Given the description of an element on the screen output the (x, y) to click on. 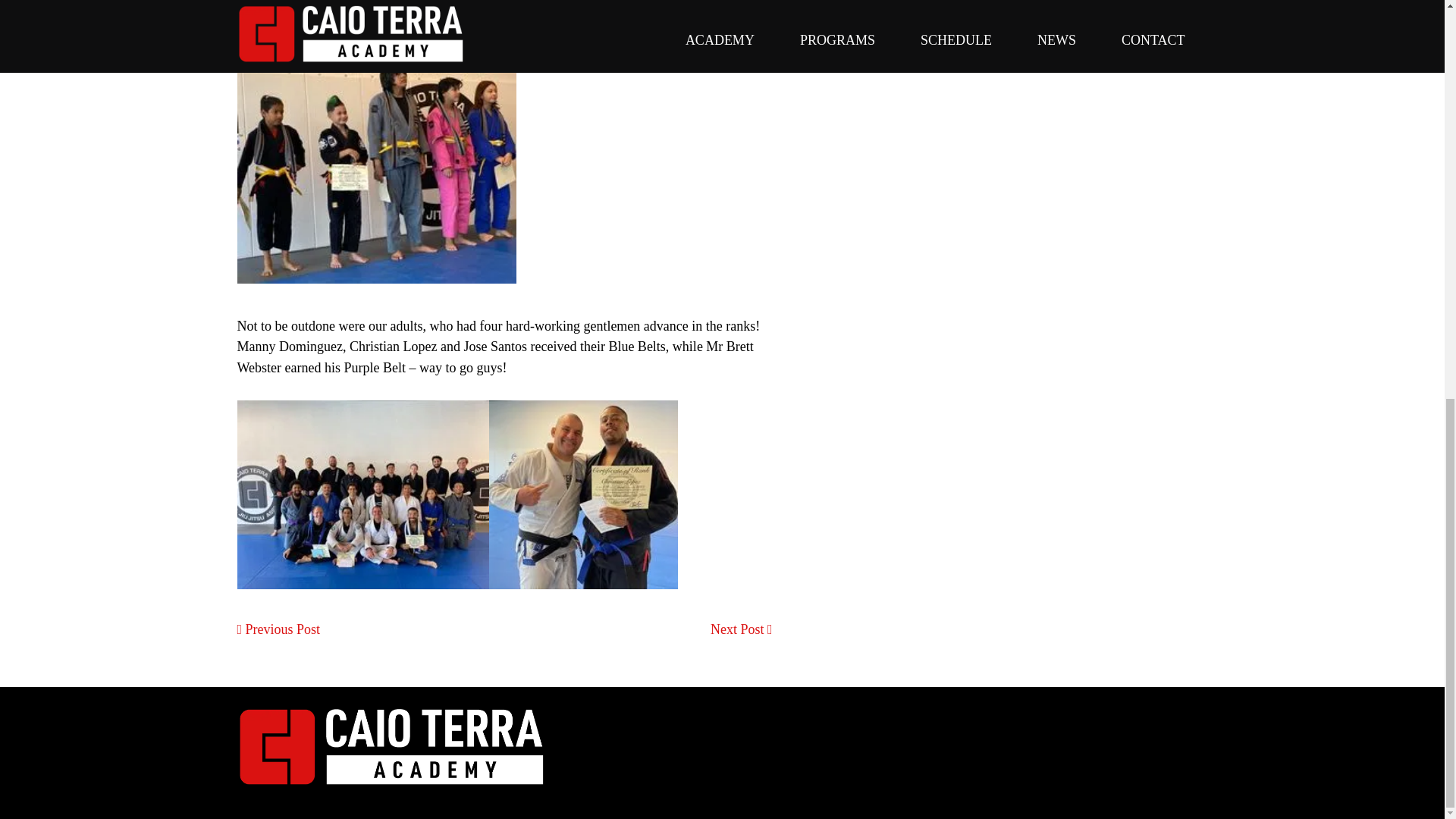
texas (390, 747)
Previous Post (277, 629)
Next Post (741, 629)
